Given the description of an element on the screen output the (x, y) to click on. 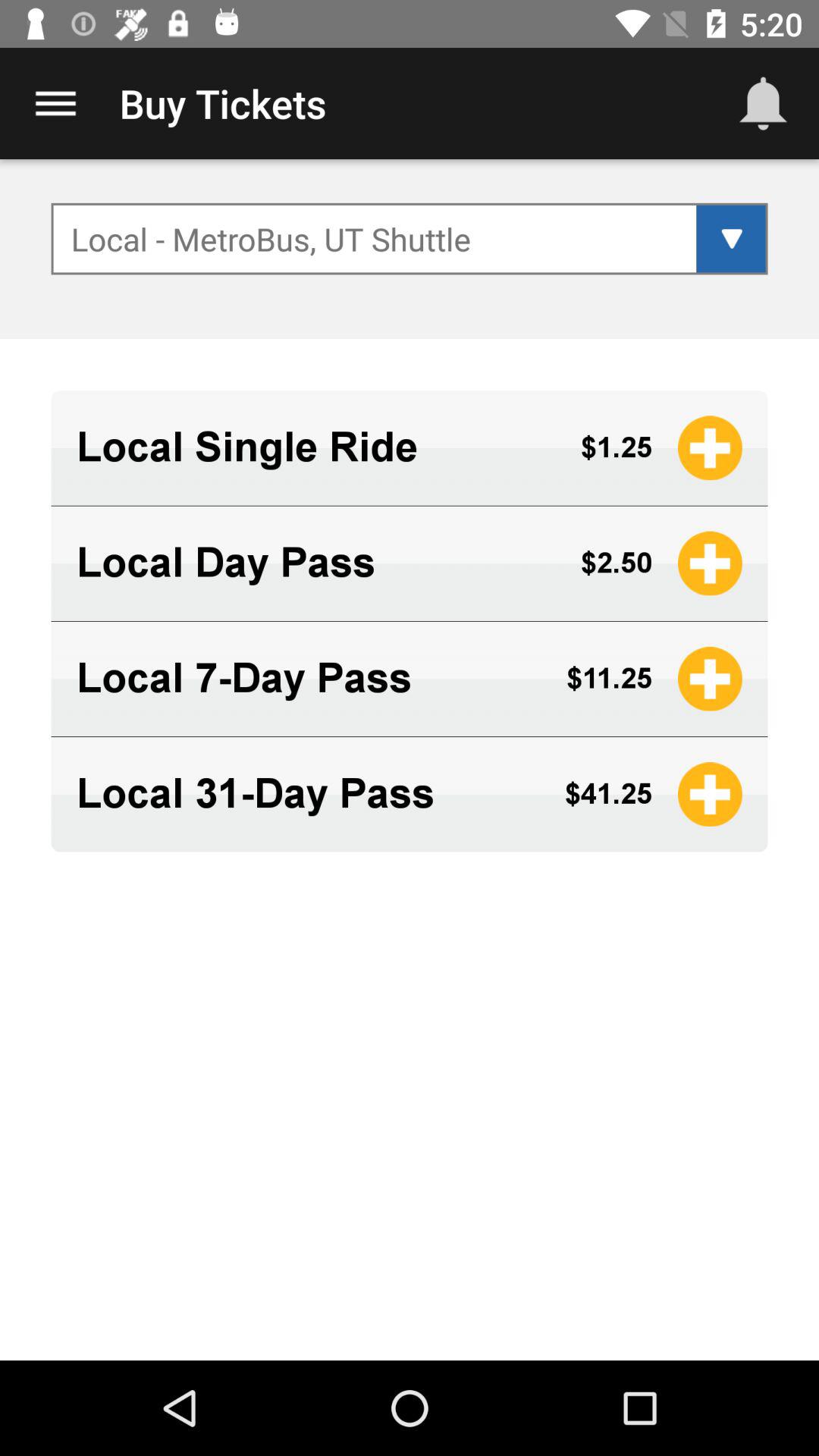
click icon to the right of local day pass (616, 563)
